Given the description of an element on the screen output the (x, y) to click on. 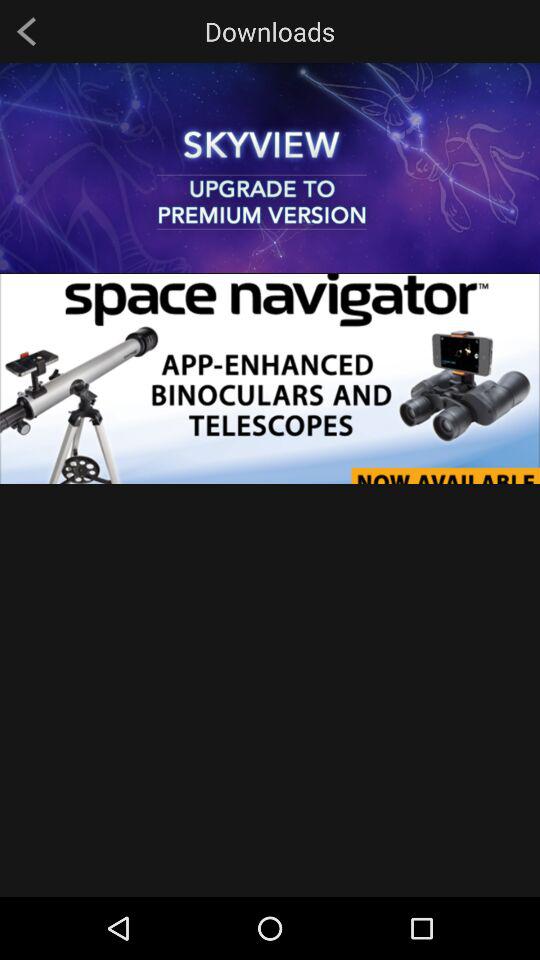
press the app to the left of downloads (26, 31)
